Given the description of an element on the screen output the (x, y) to click on. 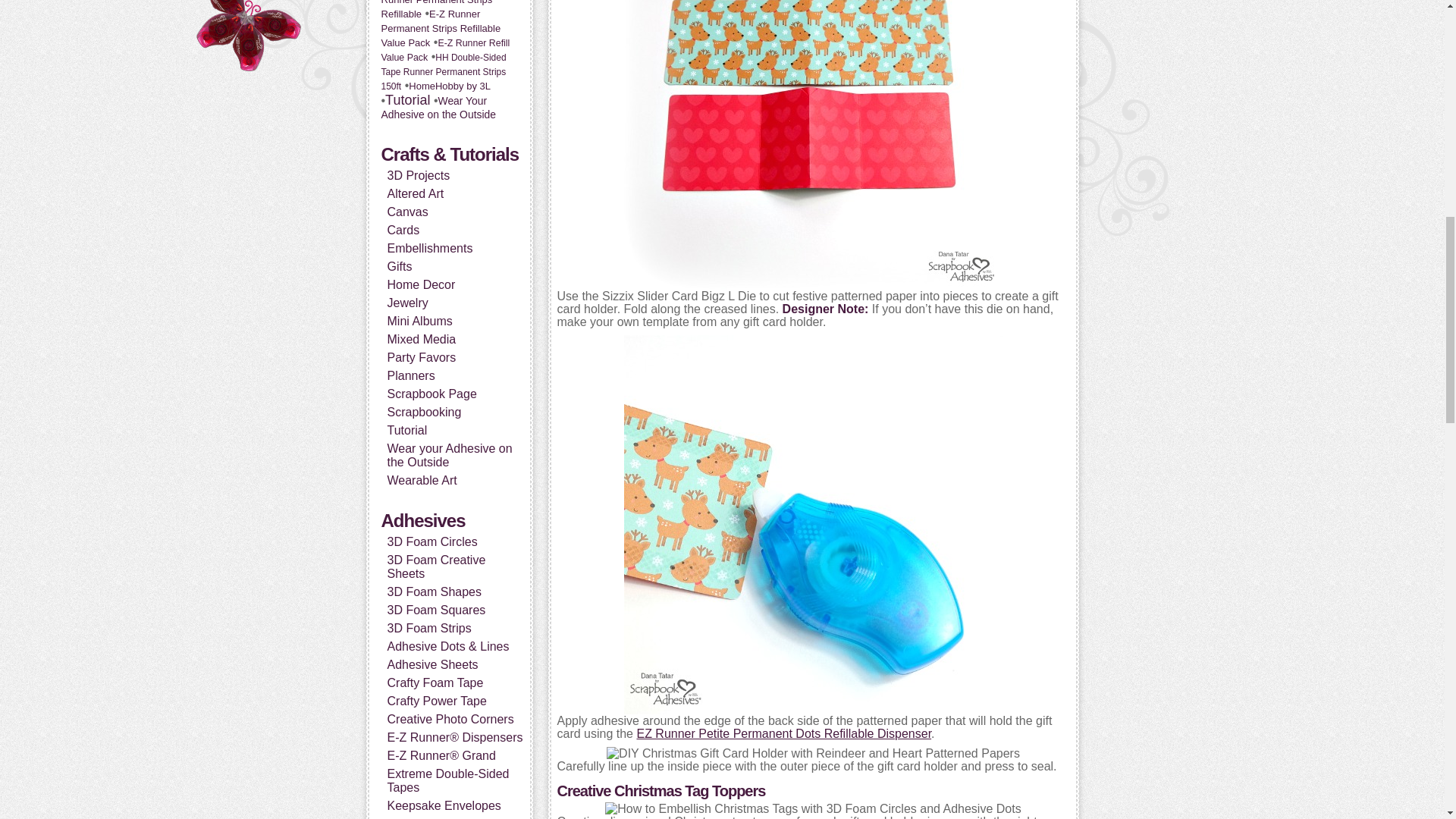
22 topics (444, 50)
19 topics (442, 71)
27 topics (442, 9)
27 topics (440, 28)
